Given the description of an element on the screen output the (x, y) to click on. 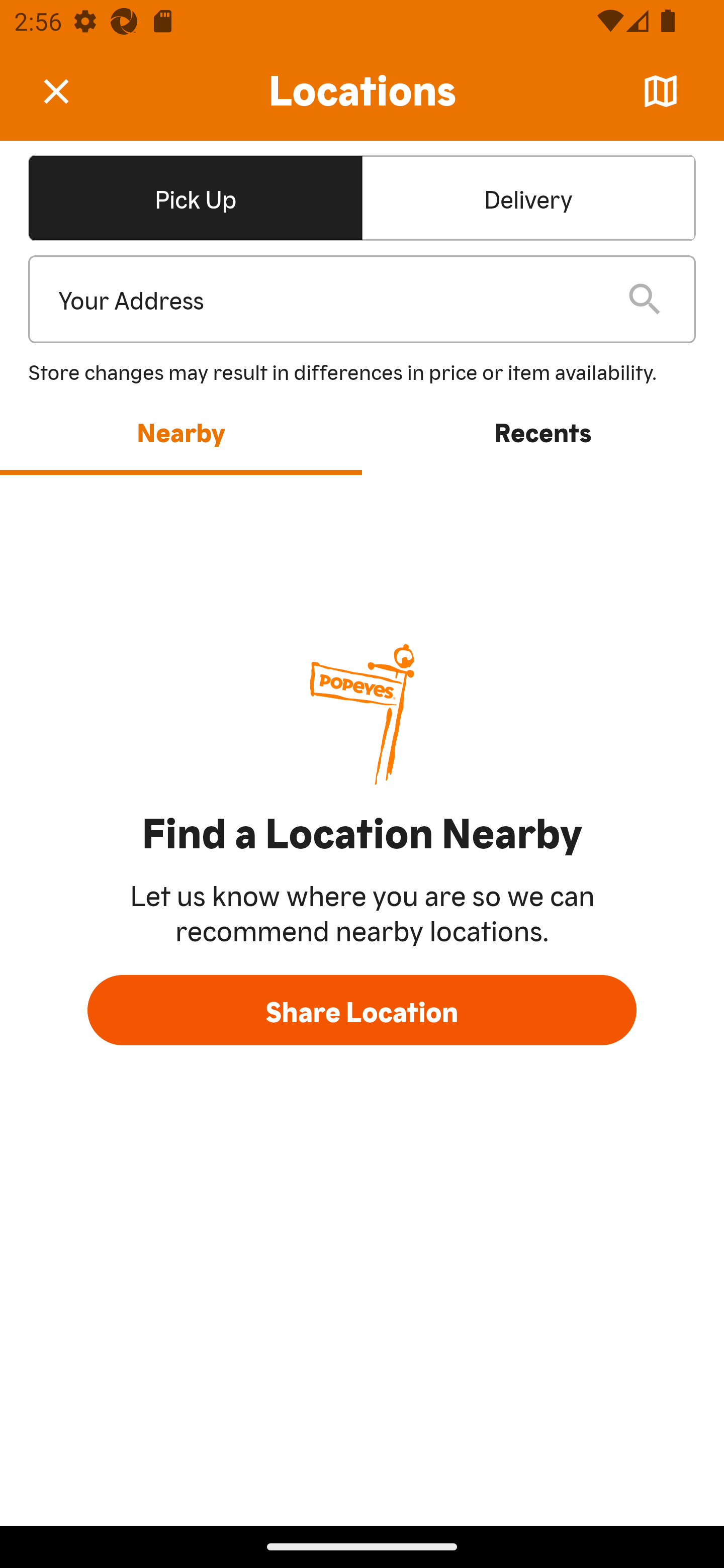
 (70, 90)
Map 󰦂 (660, 91)
Locations (362, 91)
Pick UpSelected Pick UpSelected Pick Up (195, 197)
Delivery Delivery Delivery (528, 197)
Your Address (327, 299)
Nearby (181, 430)
Recents (543, 430)
Share Location (361, 1010)
